Given the description of an element on the screen output the (x, y) to click on. 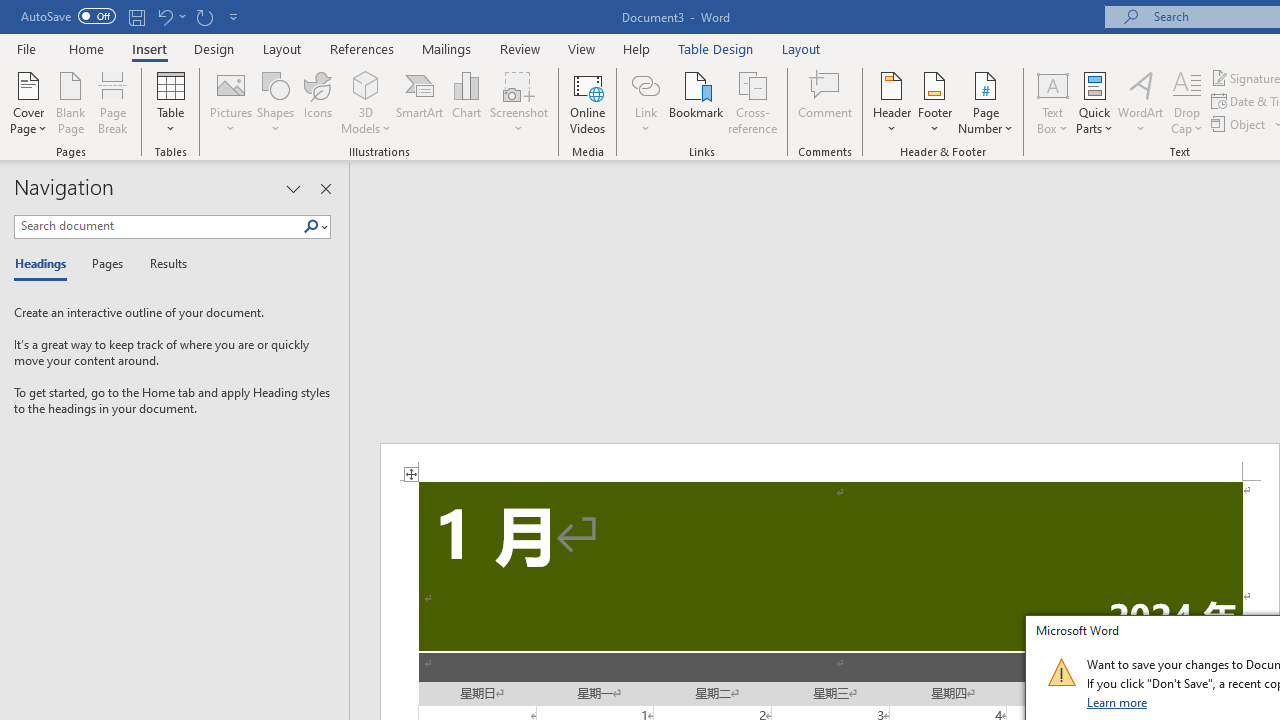
3D Models (366, 102)
Object... (1240, 124)
Quick Parts (1094, 102)
3D Models (366, 84)
Cover Page (28, 102)
Learn more (1118, 702)
